Given the description of an element on the screen output the (x, y) to click on. 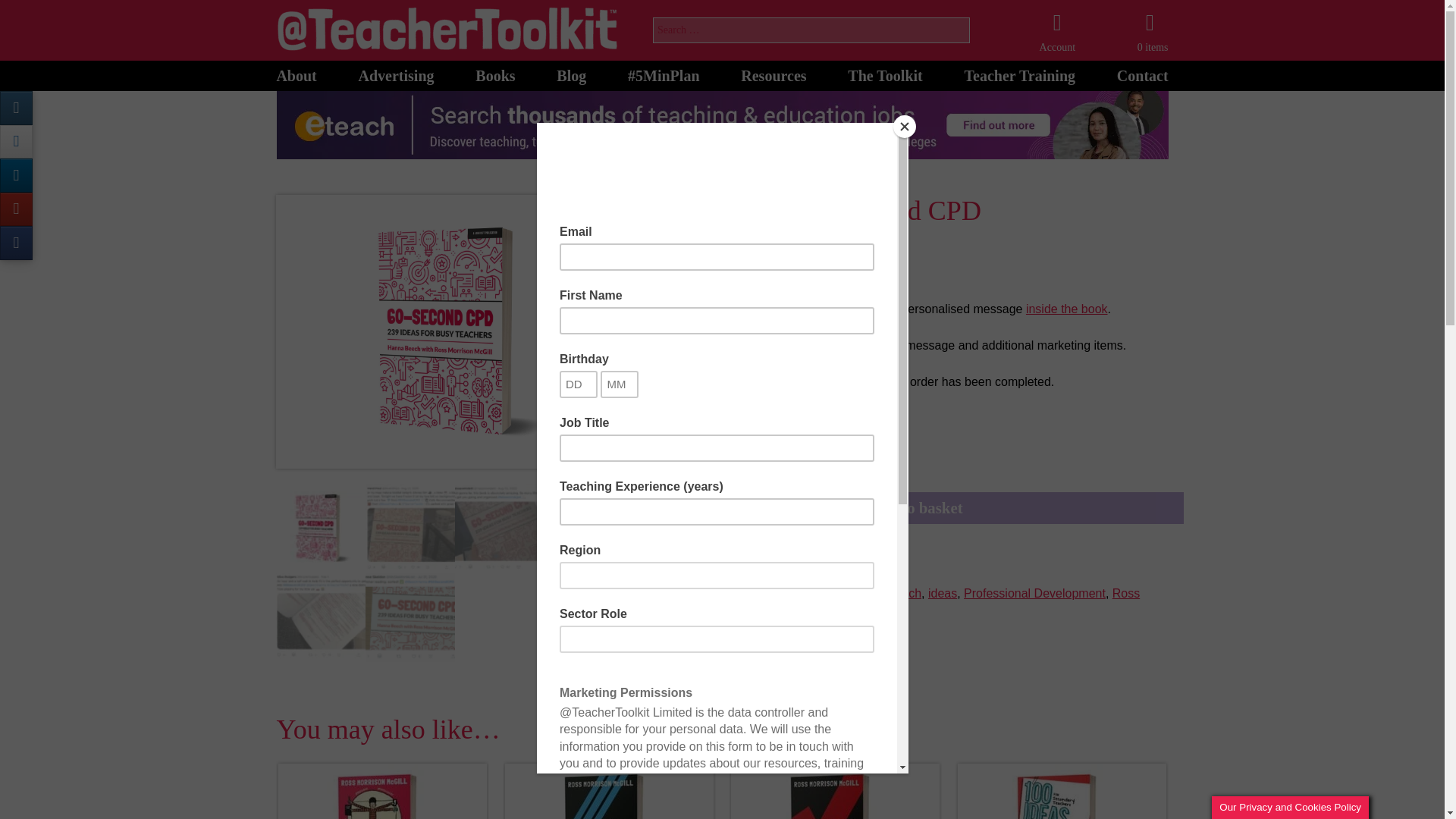
Blog (571, 71)
Supporting teachers, worldwide! (295, 71)
Advertising (395, 71)
Books (495, 71)
Resources (773, 71)
Add to basket (915, 508)
inside the book (1067, 308)
Promotional work with the number 1 blog? (395, 71)
1 (670, 458)
TeacherToolkit  on Instagram (16, 107)
TeacherToolkit  on Youtube (16, 209)
The Toolkit (884, 71)
Hanna Beech (884, 593)
About (295, 71)
Contact (1142, 71)
